Given the description of an element on the screen output the (x, y) to click on. 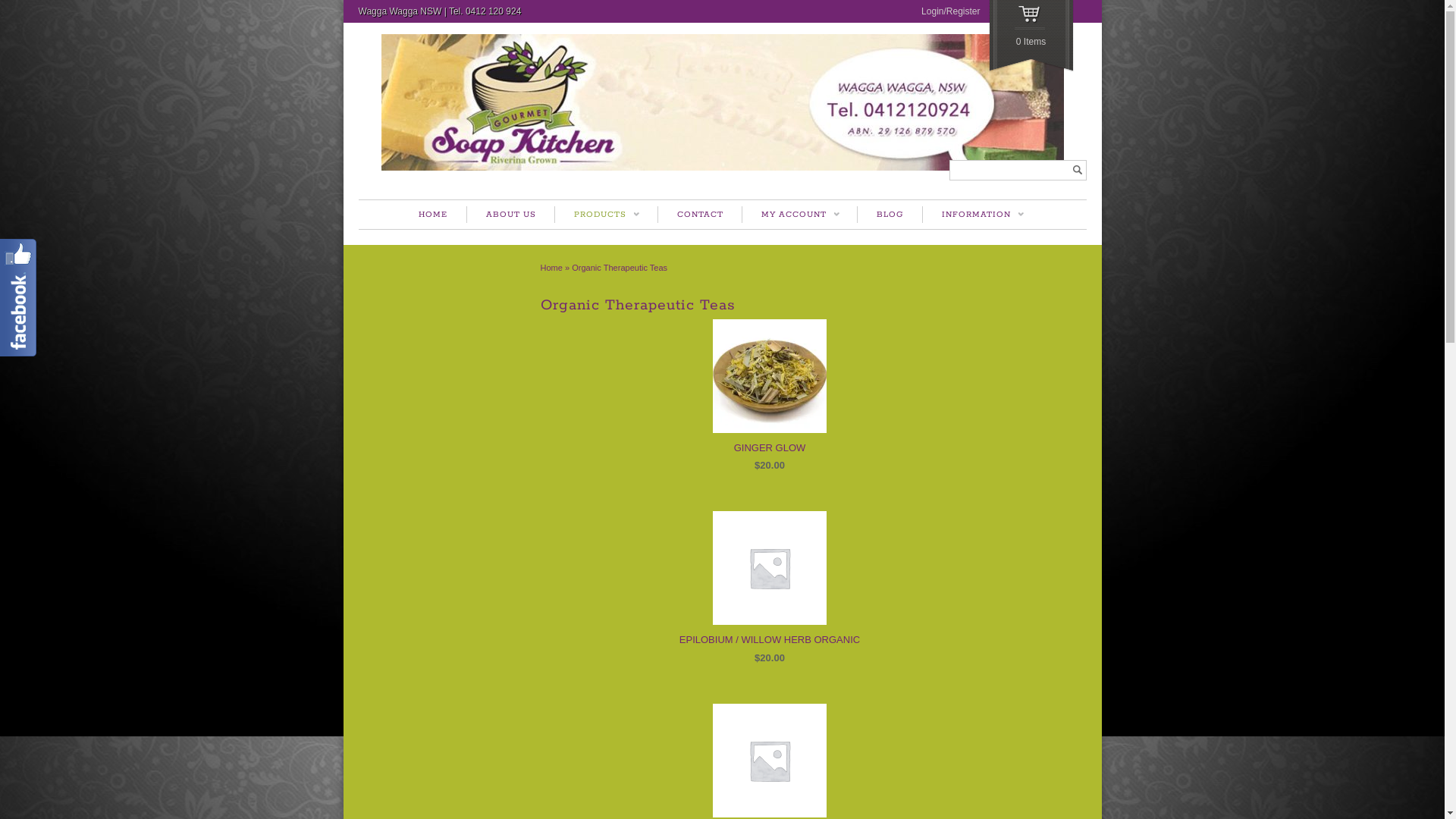
BLOG Element type: text (889, 214)
Home Element type: text (550, 267)
Gourmet Soap Kitchen Element type: hover (721, 167)
0 Items Element type: text (1030, 36)
EPILOBIUM / WILLOW HERB ORGANIC
$20.00 Element type: text (768, 588)
ABOUT US Element type: text (510, 214)
HOME Element type: text (432, 214)
CONTACT Element type: text (698, 214)
Login/Register Element type: text (950, 11)
  Element type: text (1076, 169)
GINGER GLOW
$20.00 Element type: text (768, 396)
